Given the description of an element on the screen output the (x, y) to click on. 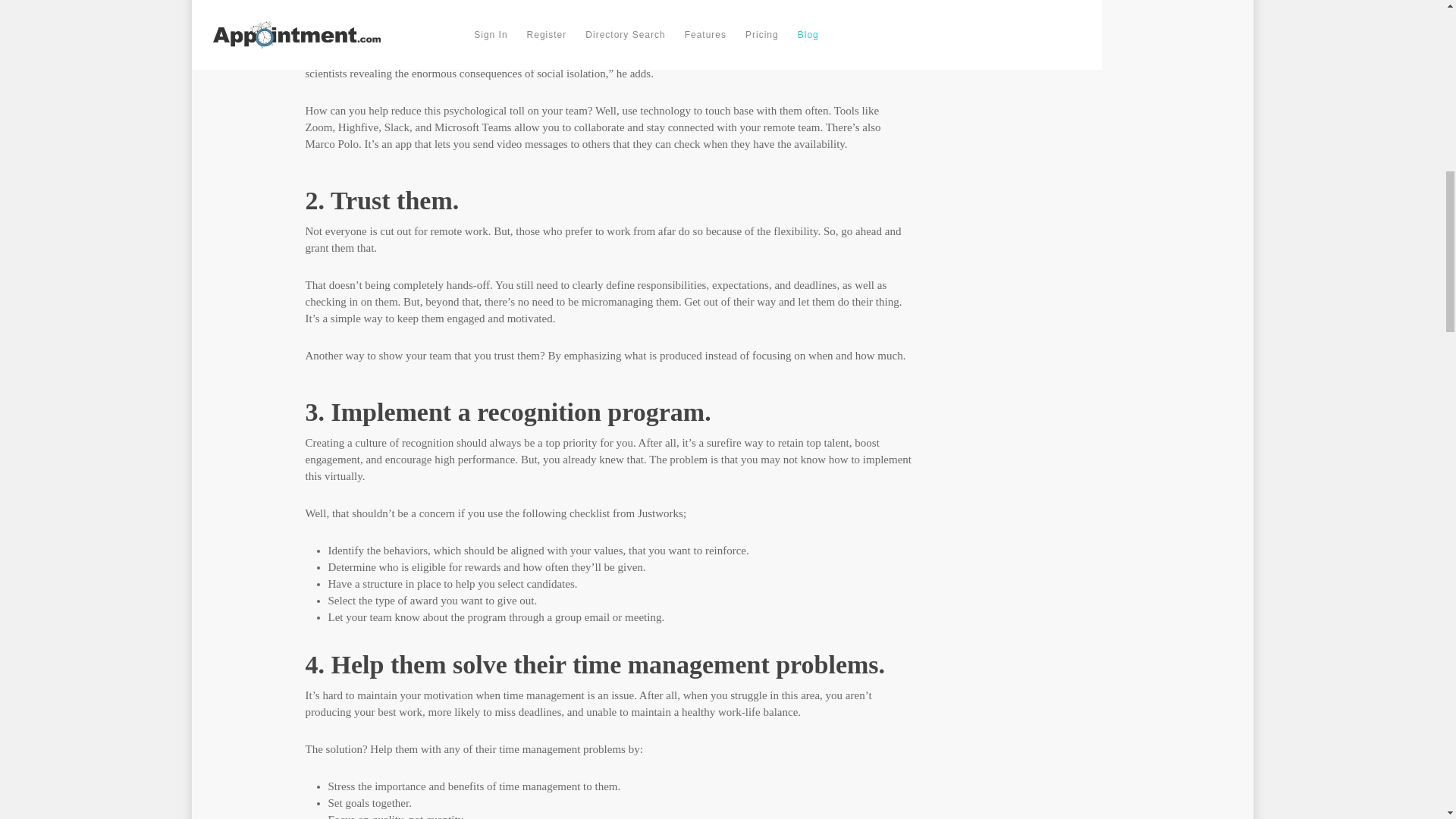
Not everyone is cut out for remote work (395, 231)
Help them with any of their time management problems (497, 748)
Entrepreneur (383, 56)
use the following checklist from Justworks (584, 512)
